Given the description of an element on the screen output the (x, y) to click on. 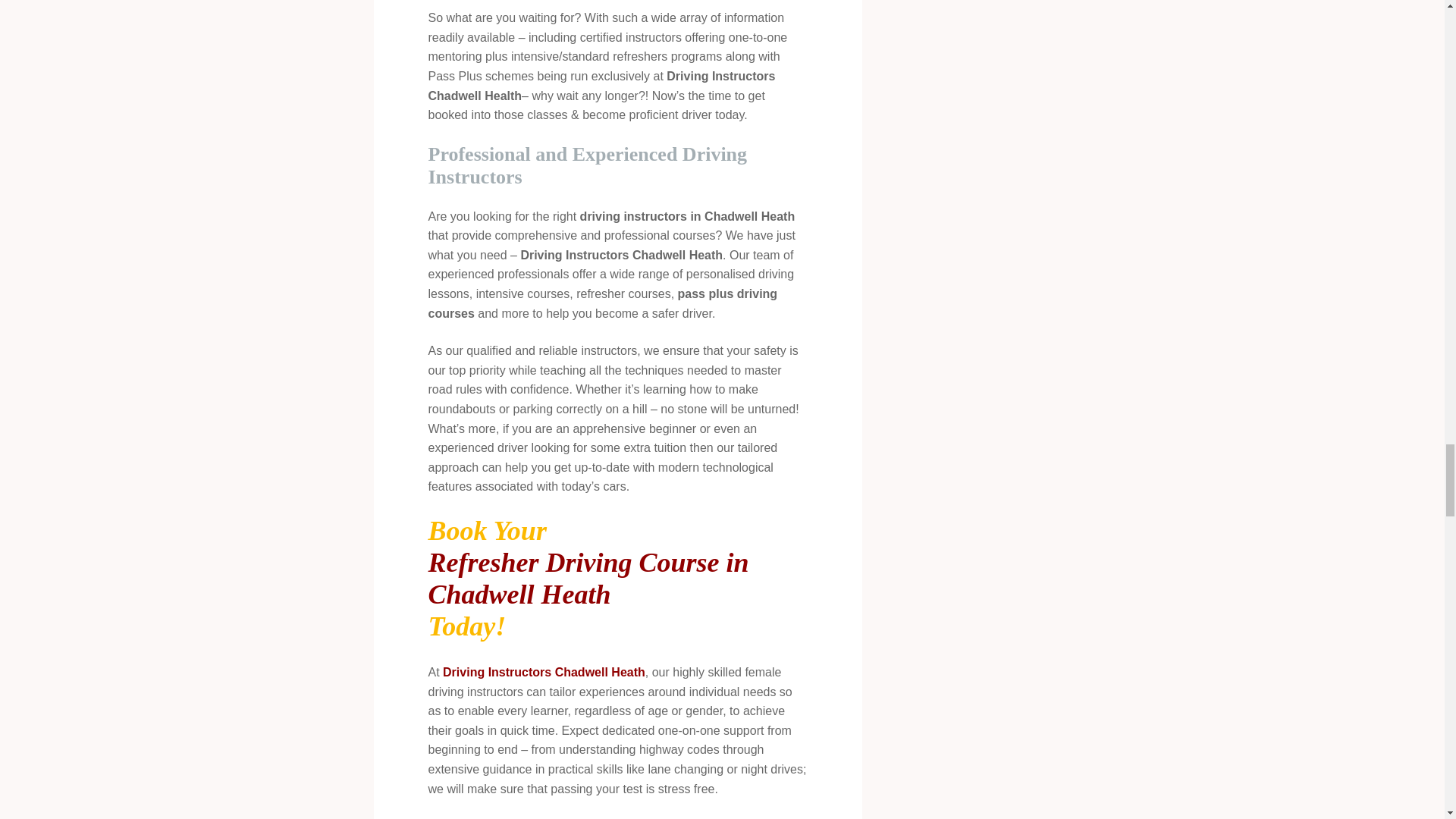
Refresher Driving Course in Chadwell Heath (617, 578)
Driving Instructors Chadwell Heath (543, 672)
